Given the description of an element on the screen output the (x, y) to click on. 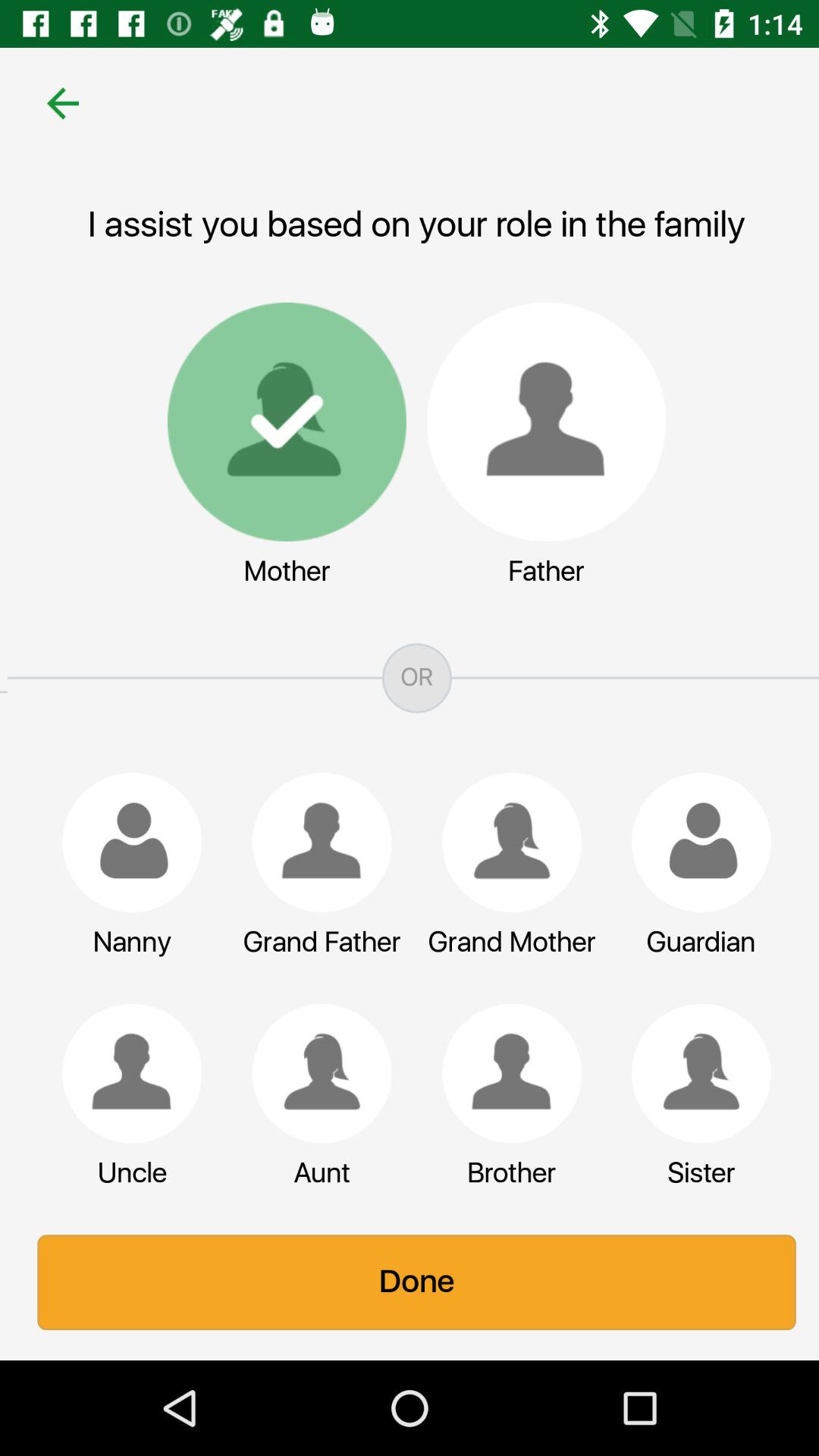
launch done (409, 1282)
